Given the description of an element on the screen output the (x, y) to click on. 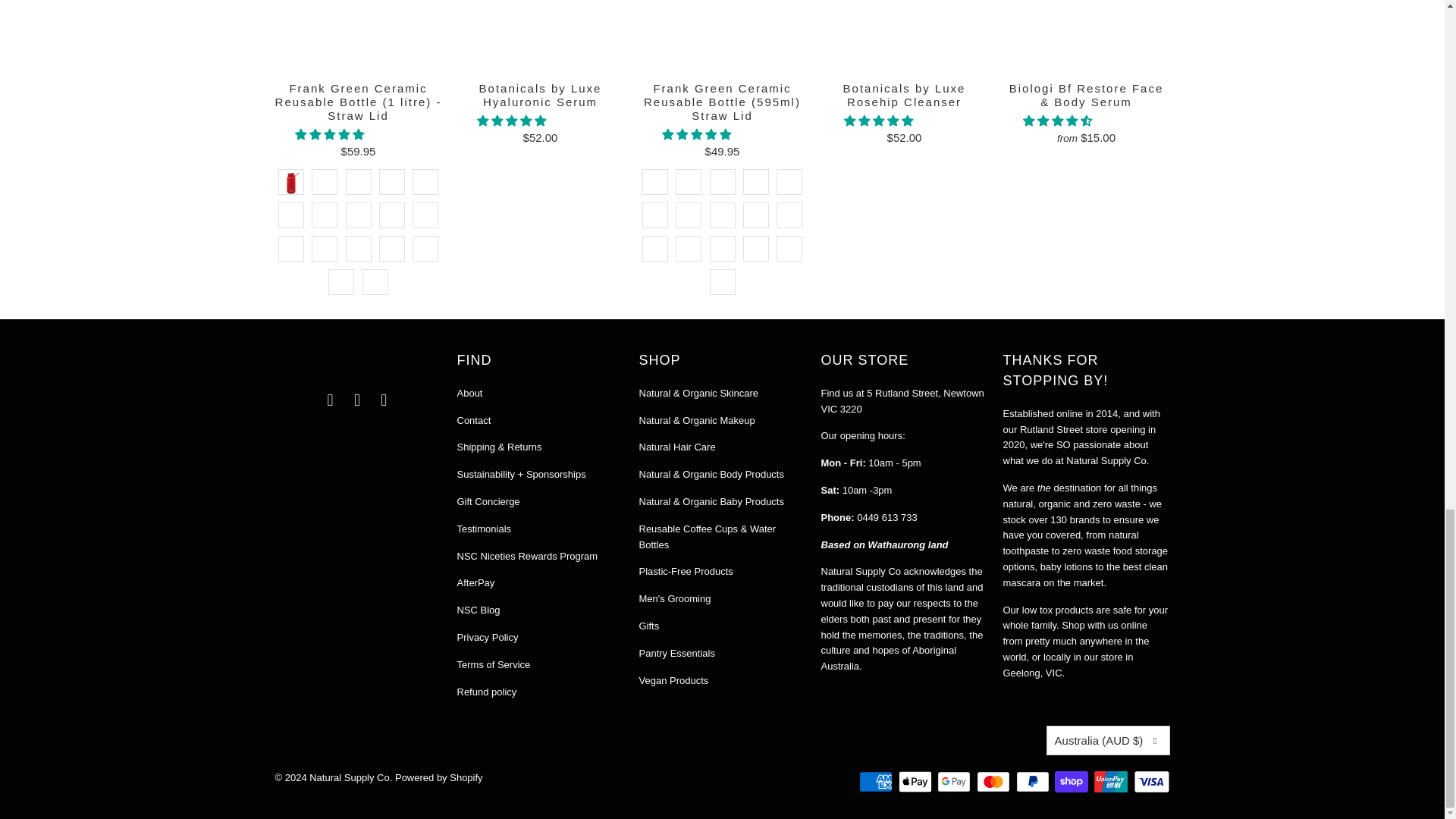
Visa (1150, 781)
American Express (877, 781)
Shop Pay (1072, 781)
Apple Pay (916, 781)
Natural Supply Co on TikTok (384, 400)
Union Pay (1112, 781)
PayPal (1034, 781)
Mastercard (994, 781)
Natural Supply Co on Facebook (330, 400)
Natural Supply Co on Instagram (357, 400)
